Given the description of an element on the screen output the (x, y) to click on. 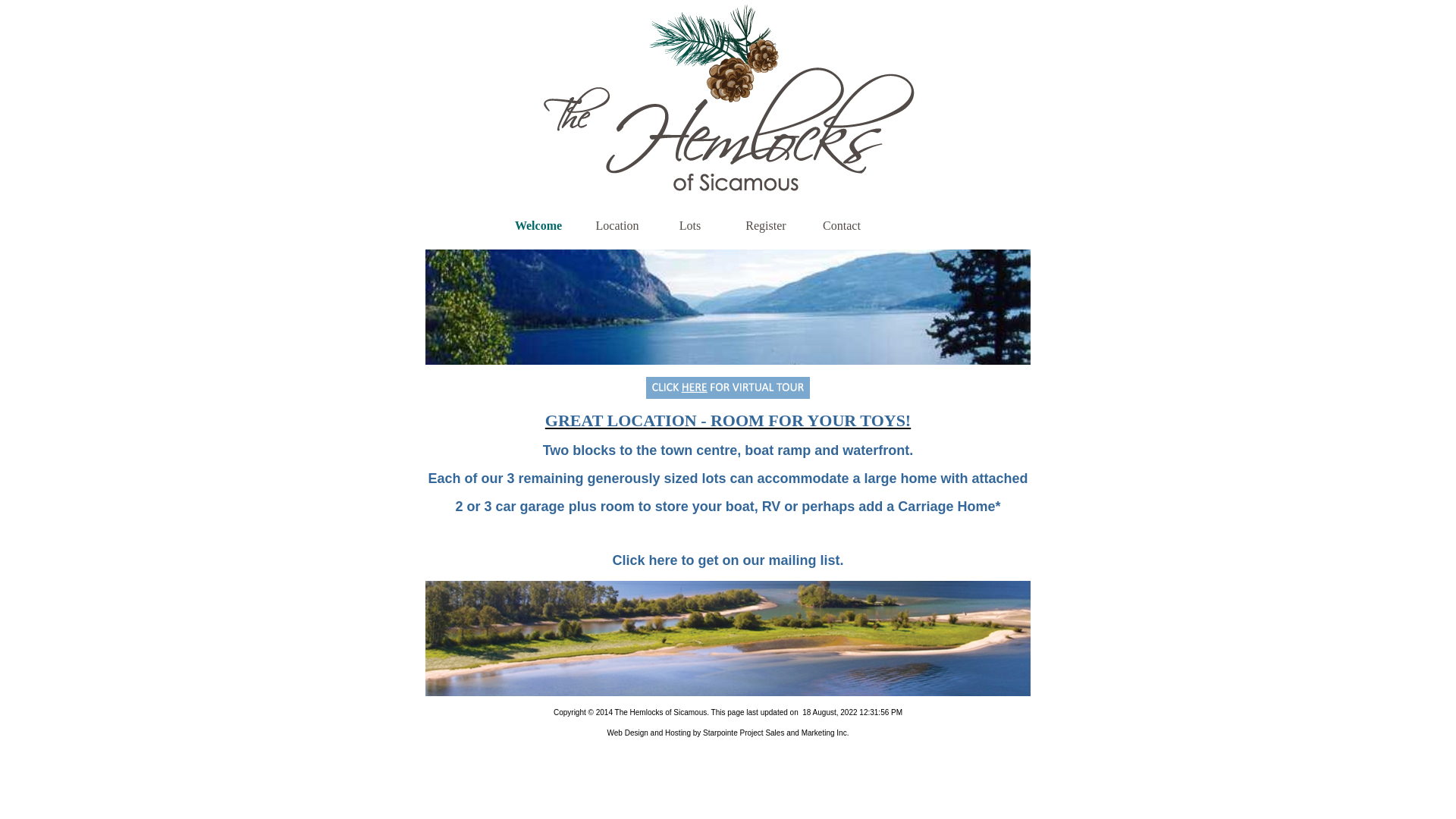
Contact Element type: text (841, 225)
Welcome Element type: text (537, 225)
Click here  Element type: text (645, 559)
Starpointe Project Sales and Marketing Inc Element type: text (774, 732)
Register Element type: text (765, 225)
Lots Element type: text (689, 225)
Location Element type: text (616, 225)
